Given the description of an element on the screen output the (x, y) to click on. 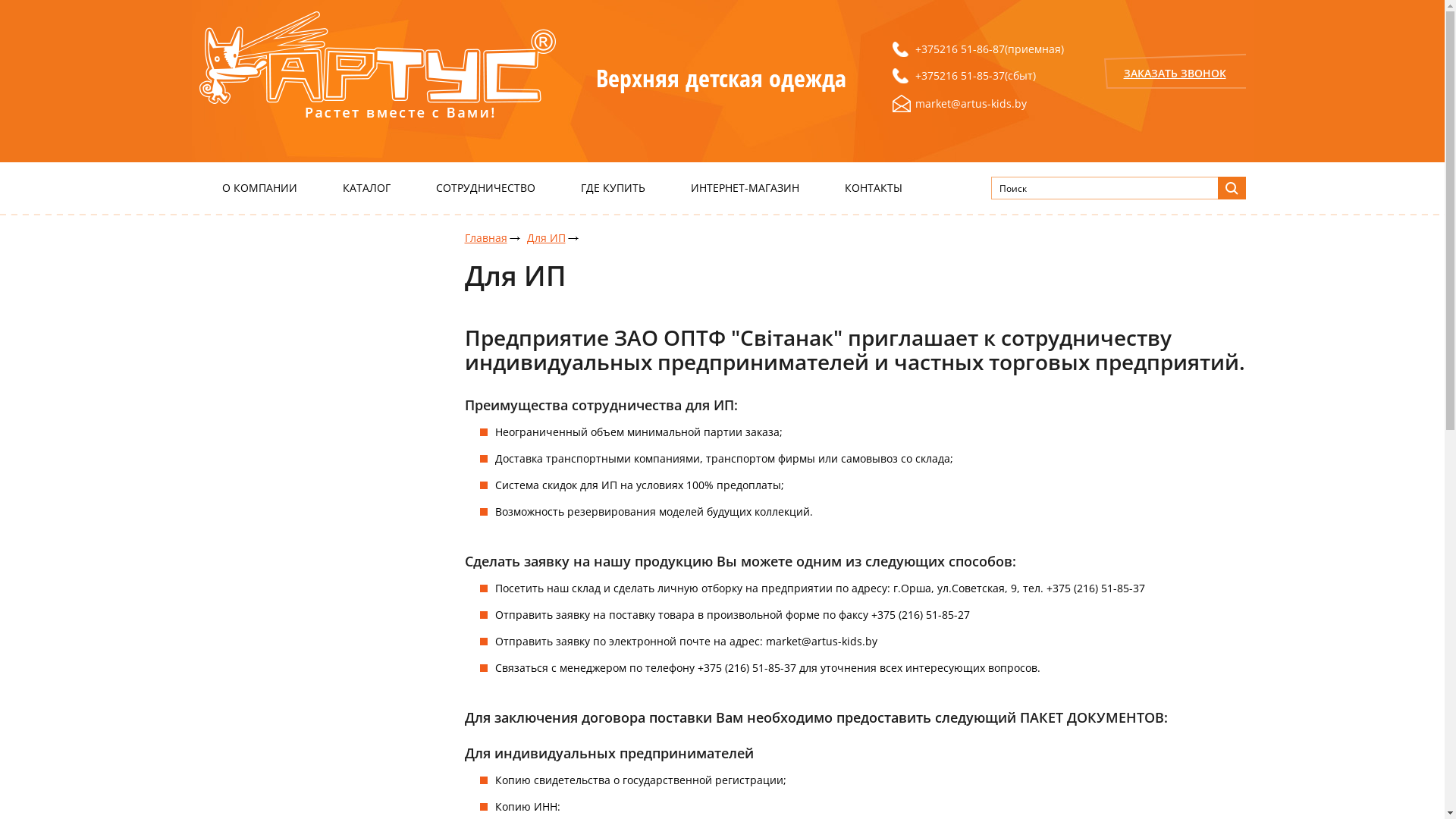
market@artus-kids.by Element type: text (977, 103)
